Given the description of an element on the screen output the (x, y) to click on. 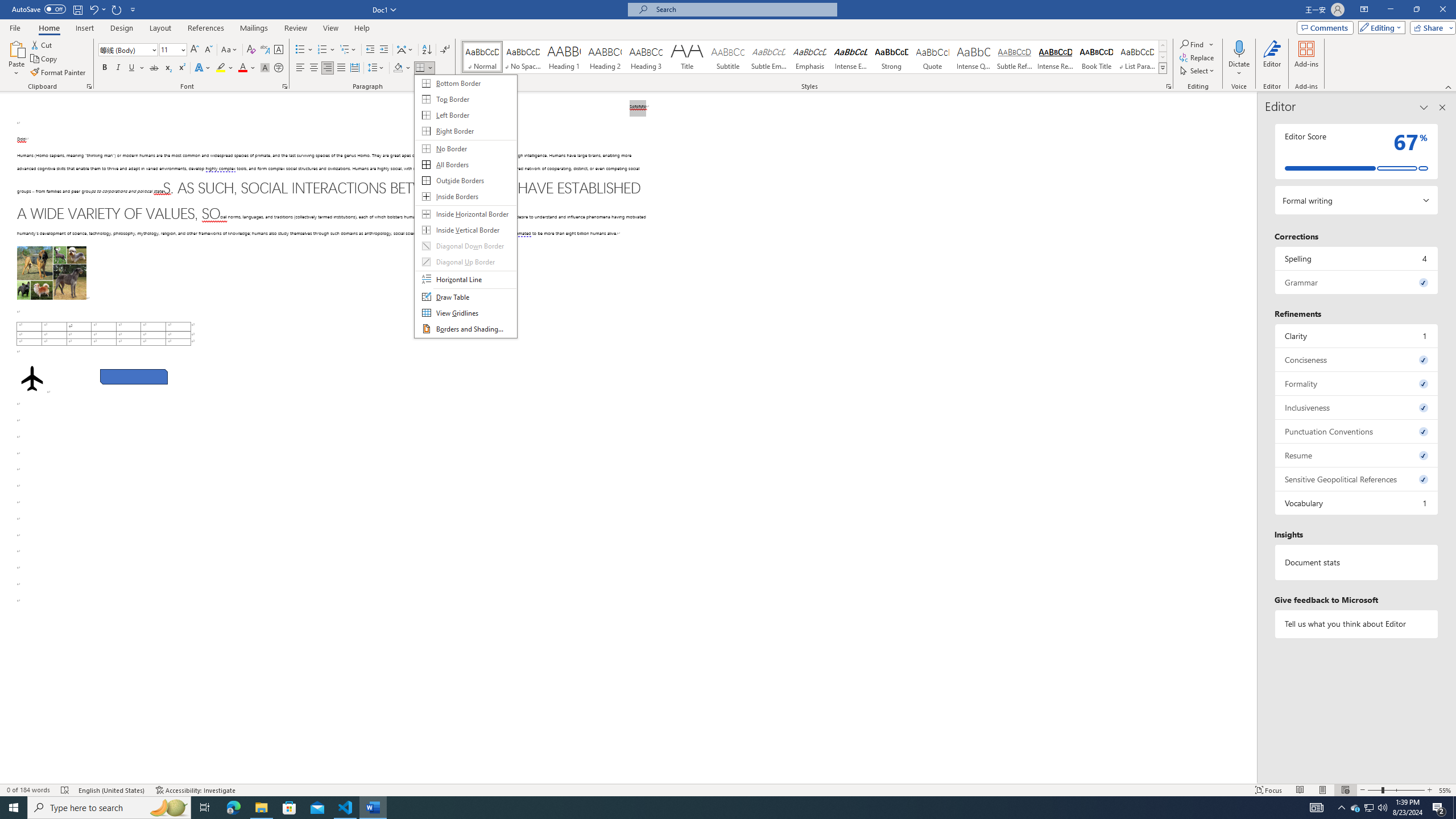
Task Pane Options (1423, 107)
Minimize (1390, 9)
Print Layout (1322, 790)
Share (1430, 27)
Copy (45, 58)
Class: NetUIImage (1162, 68)
Clarity, 1 issue. Press space or enter to review items. (1356, 335)
Underline (131, 67)
Align Left (300, 67)
Character Border (278, 49)
Find (1197, 44)
Replace... (1197, 56)
Heading 2 (605, 56)
Asian Layout (405, 49)
AutoSave (38, 9)
